Given the description of an element on the screen output the (x, y) to click on. 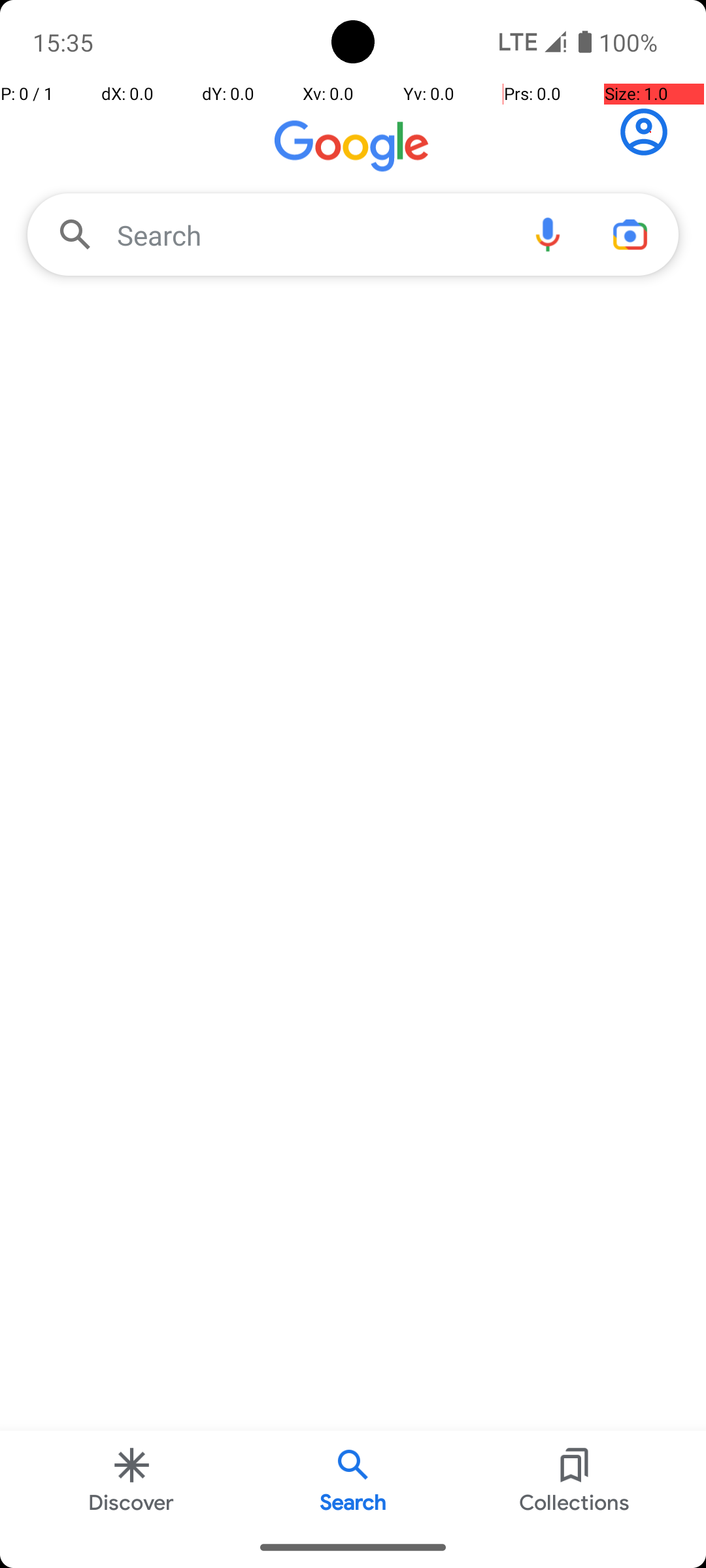
Go to Discover Element type: android.widget.ImageView (352, 148)
Collections Button Element type: android.widget.FrameLayout (574, 1478)
